Given the description of an element on the screen output the (x, y) to click on. 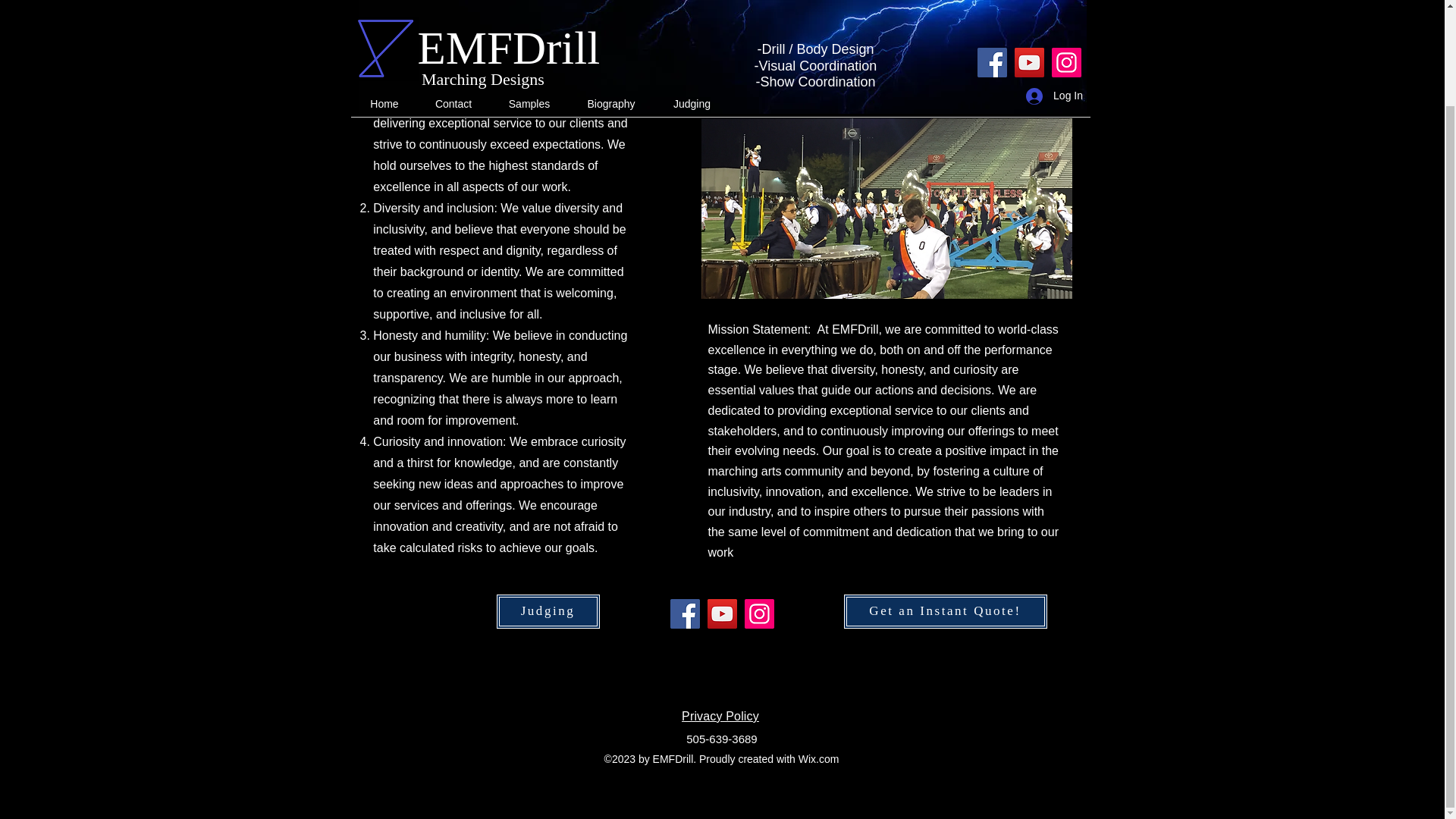
Contact (453, 1)
Home (384, 1)
Judging (547, 611)
Privacy Policy (719, 716)
Judging (691, 1)
Samples (528, 1)
Biography (611, 1)
Get an Instant Quote! (944, 611)
